Given the description of an element on the screen output the (x, y) to click on. 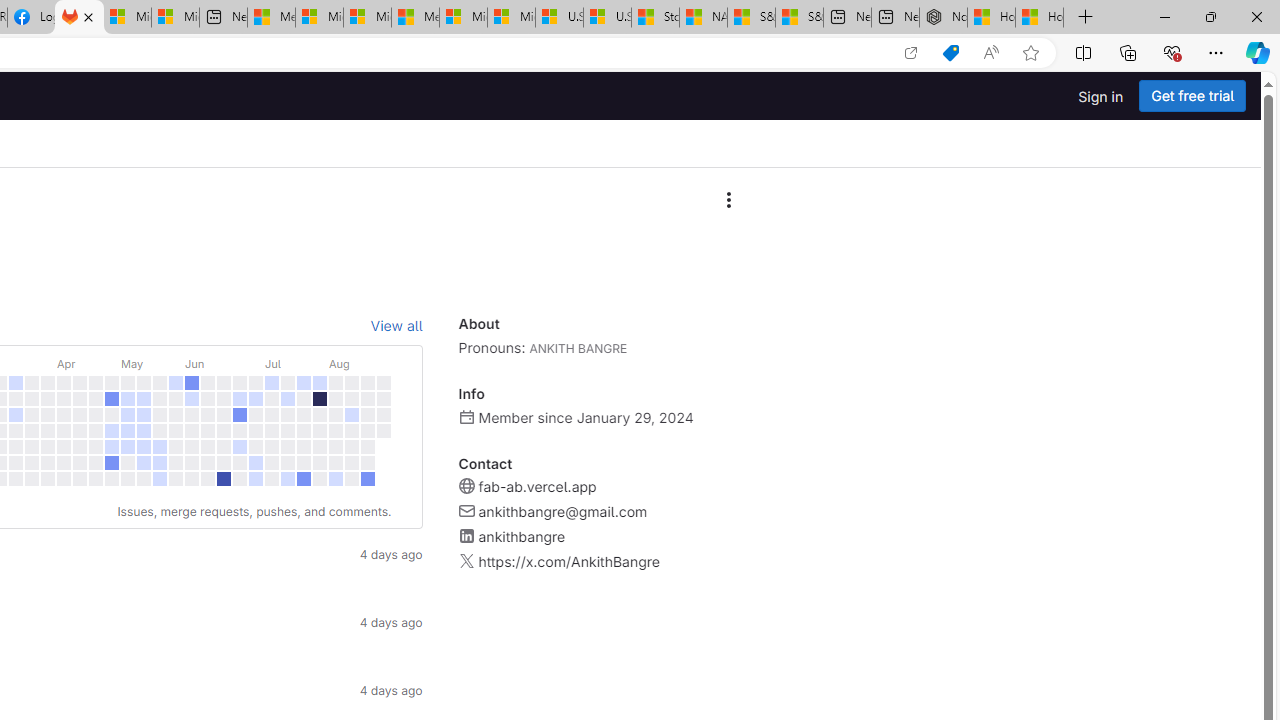
ankithbangre@gmail.com (562, 511)
S&P 500, Nasdaq end lower, weighed by Nvidia dip | Watch (799, 17)
Shopping in Microsoft Edge (950, 53)
